Given the description of an element on the screen output the (x, y) to click on. 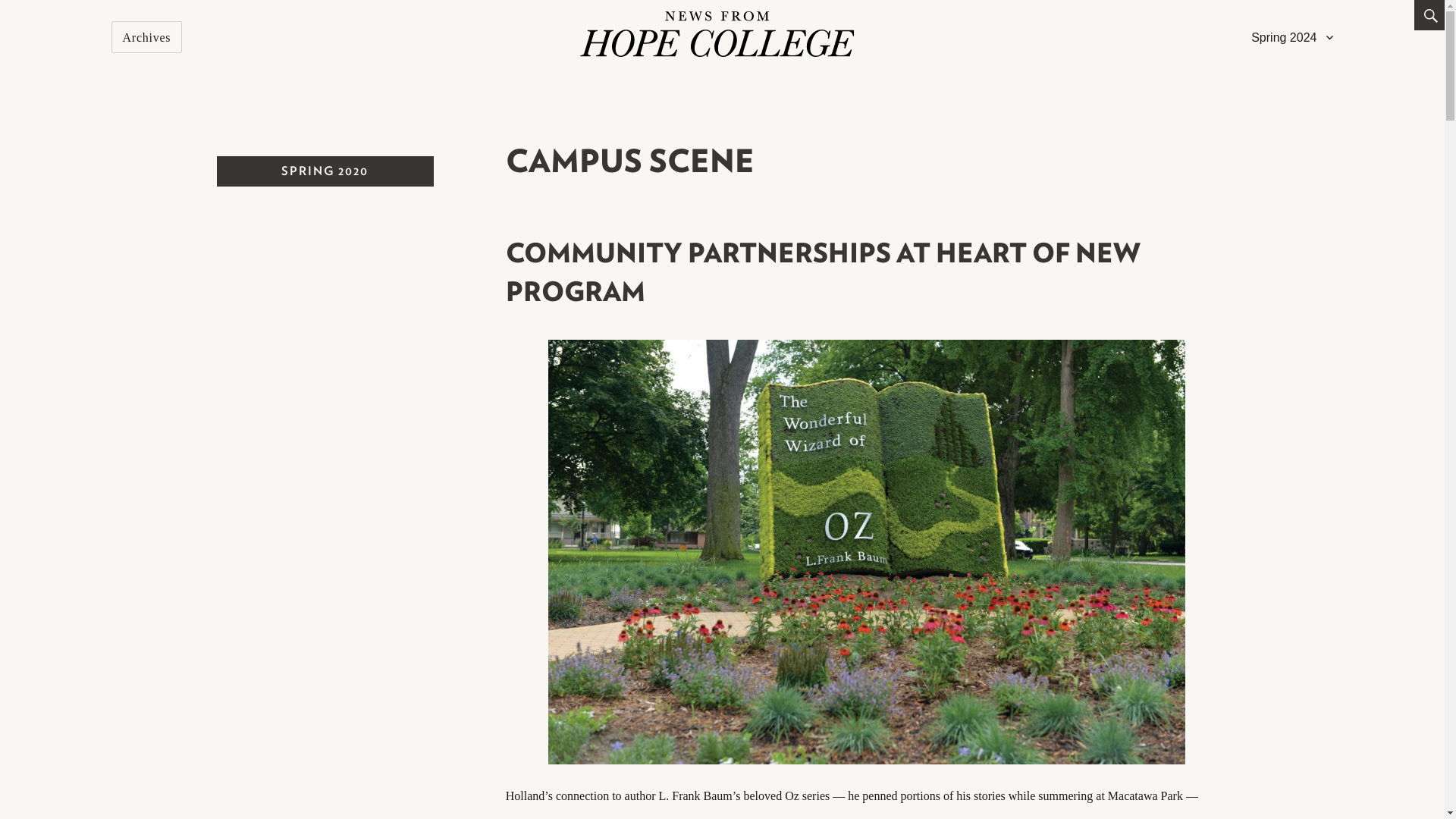
Spring 2024 (1291, 37)
Archives (147, 37)
Archives (147, 37)
